Given the description of an element on the screen output the (x, y) to click on. 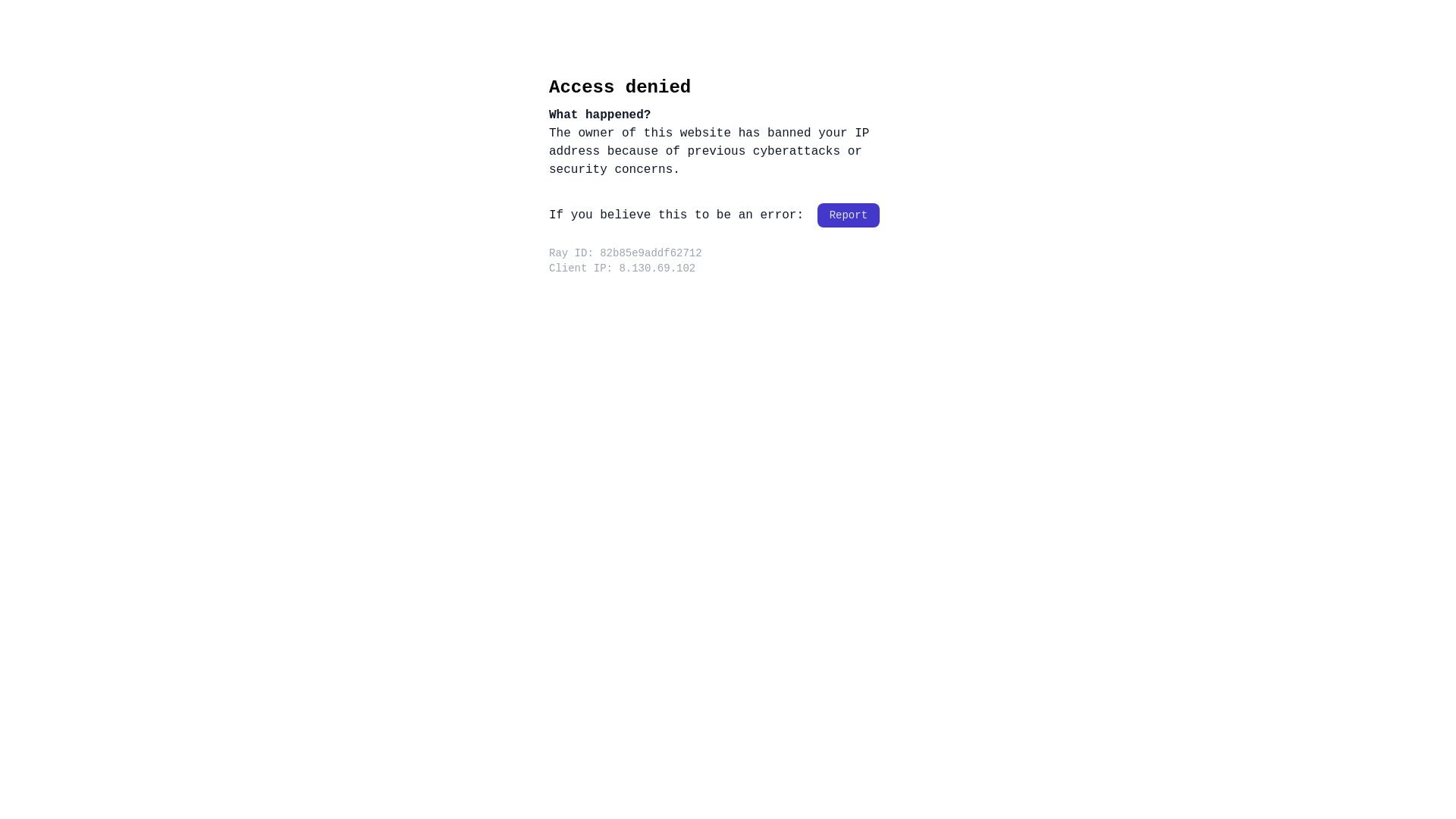
Report Element type: text (848, 215)
